Given the description of an element on the screen output the (x, y) to click on. 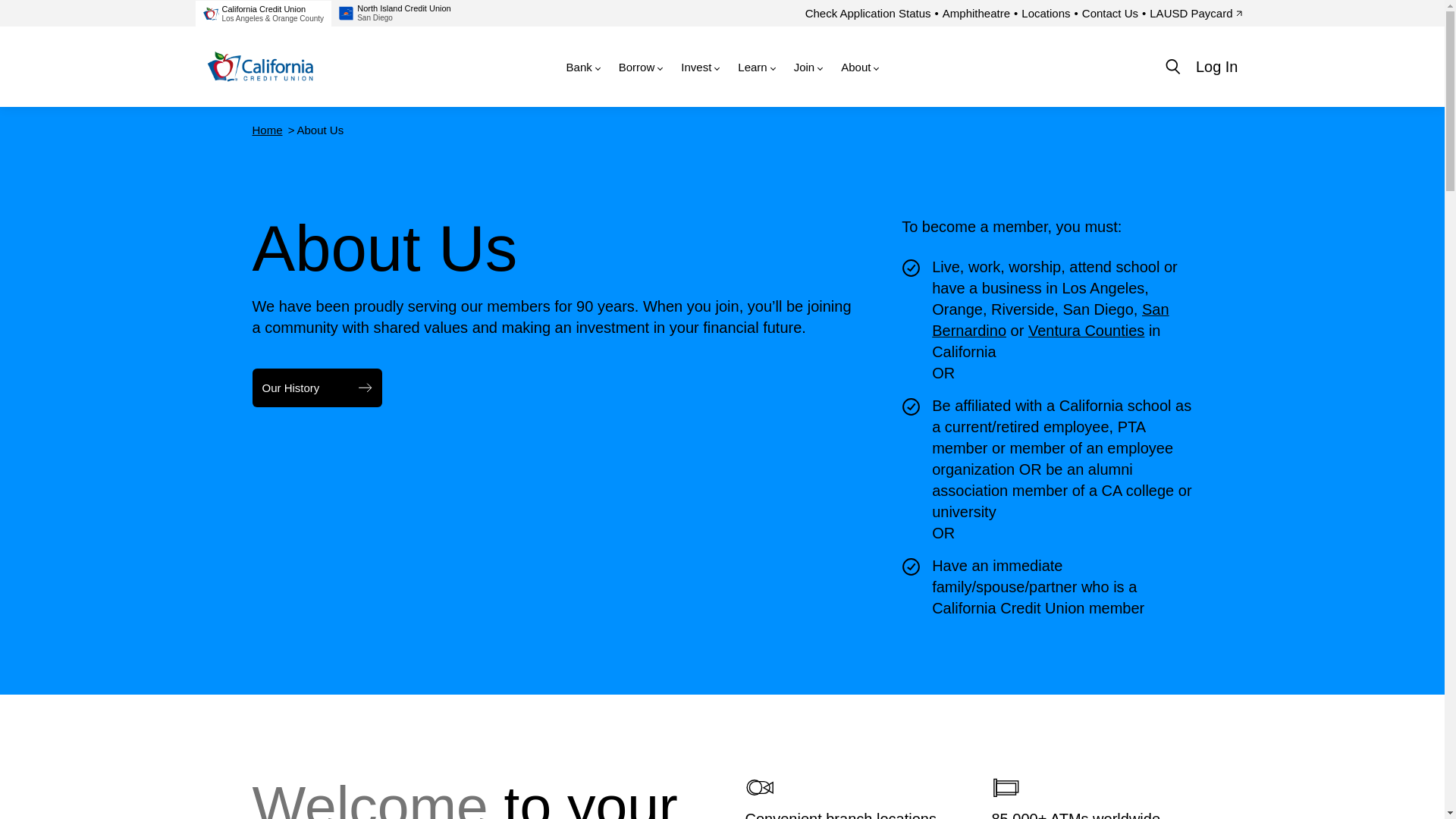
Locations (1046, 12)
Amphitheatre (976, 12)
Our History (316, 387)
Contact Us (1109, 12)
Check Application Status (868, 12)
California Credit Union and North Island Credit Union (260, 66)
Bank (582, 66)
LAUSD Paycard (396, 13)
